Given the description of an element on the screen output the (x, y) to click on. 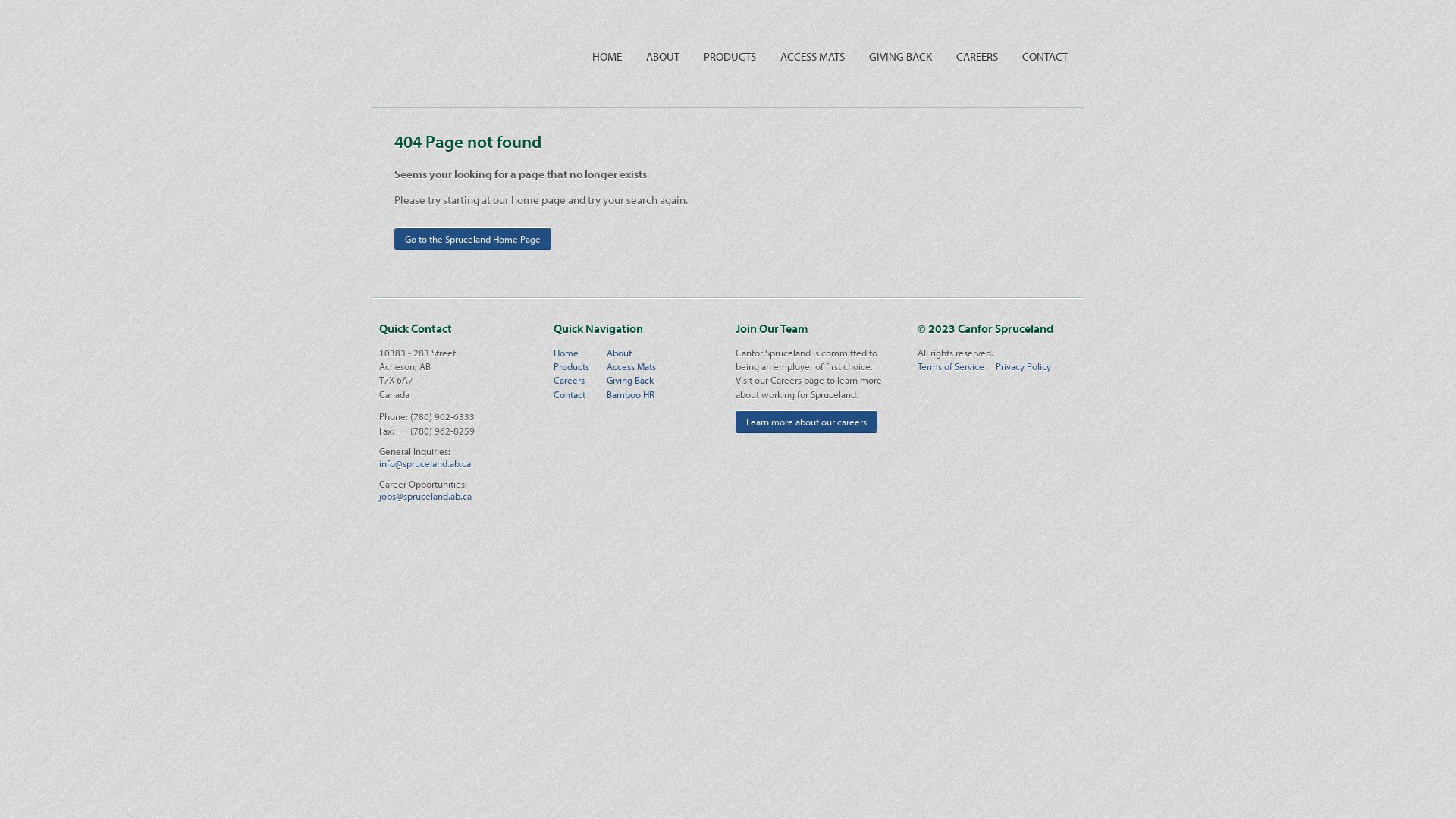
Terms of Service Element type: text (950, 366)
PRODUCTS Element type: text (729, 56)
About Element type: text (618, 352)
GIVING BACK Element type: text (900, 56)
jobs@spruceland.ab.ca Element type: text (425, 495)
Careers Element type: text (568, 379)
info@spruceland.ab.ca Element type: text (424, 463)
Privacy Policy Element type: text (1023, 366)
Products Element type: text (571, 366)
Contact Element type: text (569, 394)
Giving Back Element type: text (629, 379)
Bamboo HR Element type: text (630, 394)
Learn more about our careers Element type: text (806, 421)
CAREERS Element type: text (976, 56)
HOME Element type: text (606, 56)
ACCESS MATS Element type: text (812, 56)
ABOUT Element type: text (662, 56)
Access Mats Element type: text (630, 366)
CONTACT Element type: text (1044, 56)
Go to the Spruceland Home Page Element type: text (472, 238)
Home Element type: text (565, 352)
